Given the description of an element on the screen output the (x, y) to click on. 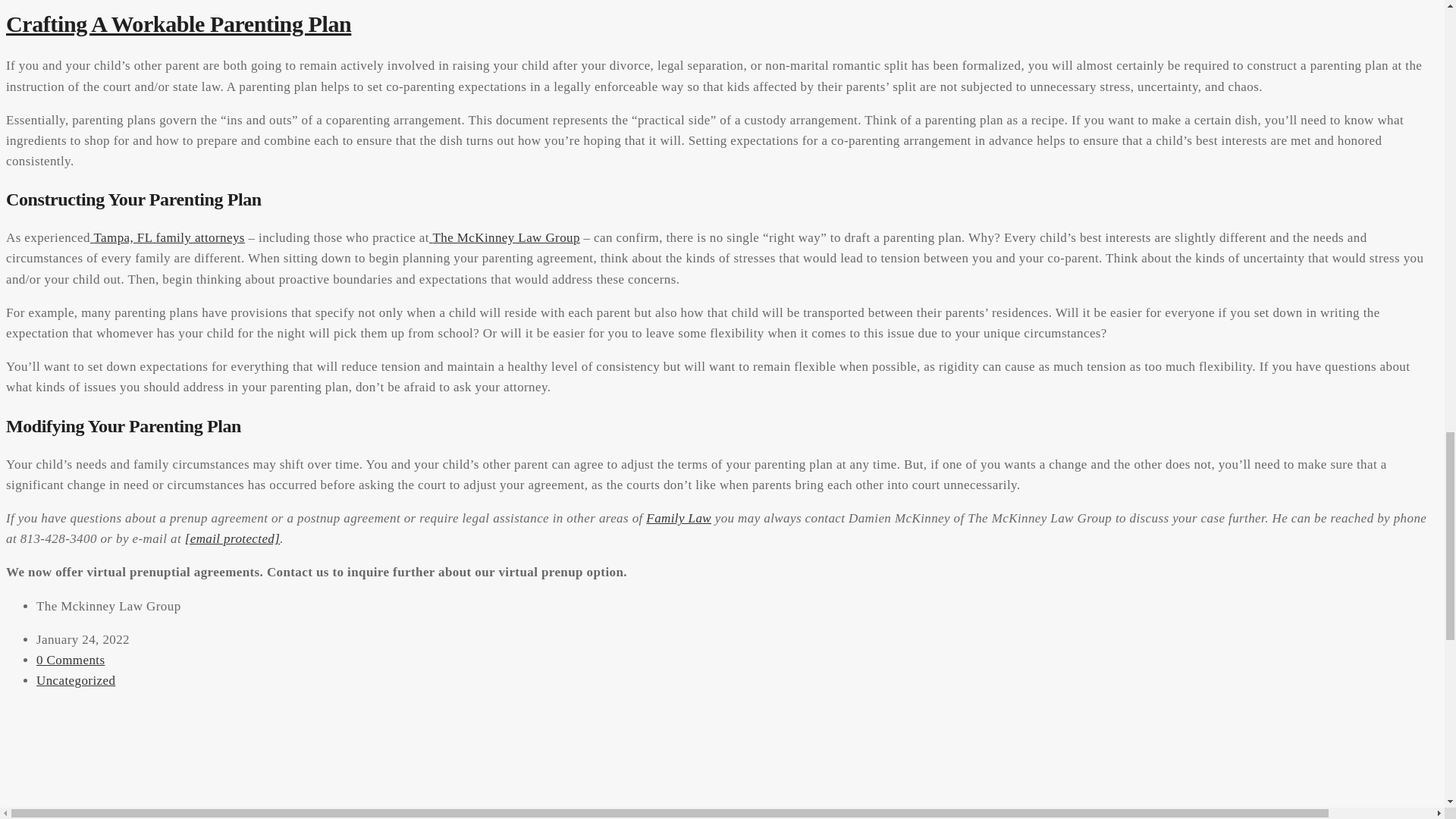
Crafting A Workable Parenting Plan (177, 23)
The McKinney Law Group (504, 237)
Uncategorized (75, 680)
0 Comments (70, 659)
Family Law (678, 518)
Tampa, FL family attorneys (167, 237)
